Given the description of an element on the screen output the (x, y) to click on. 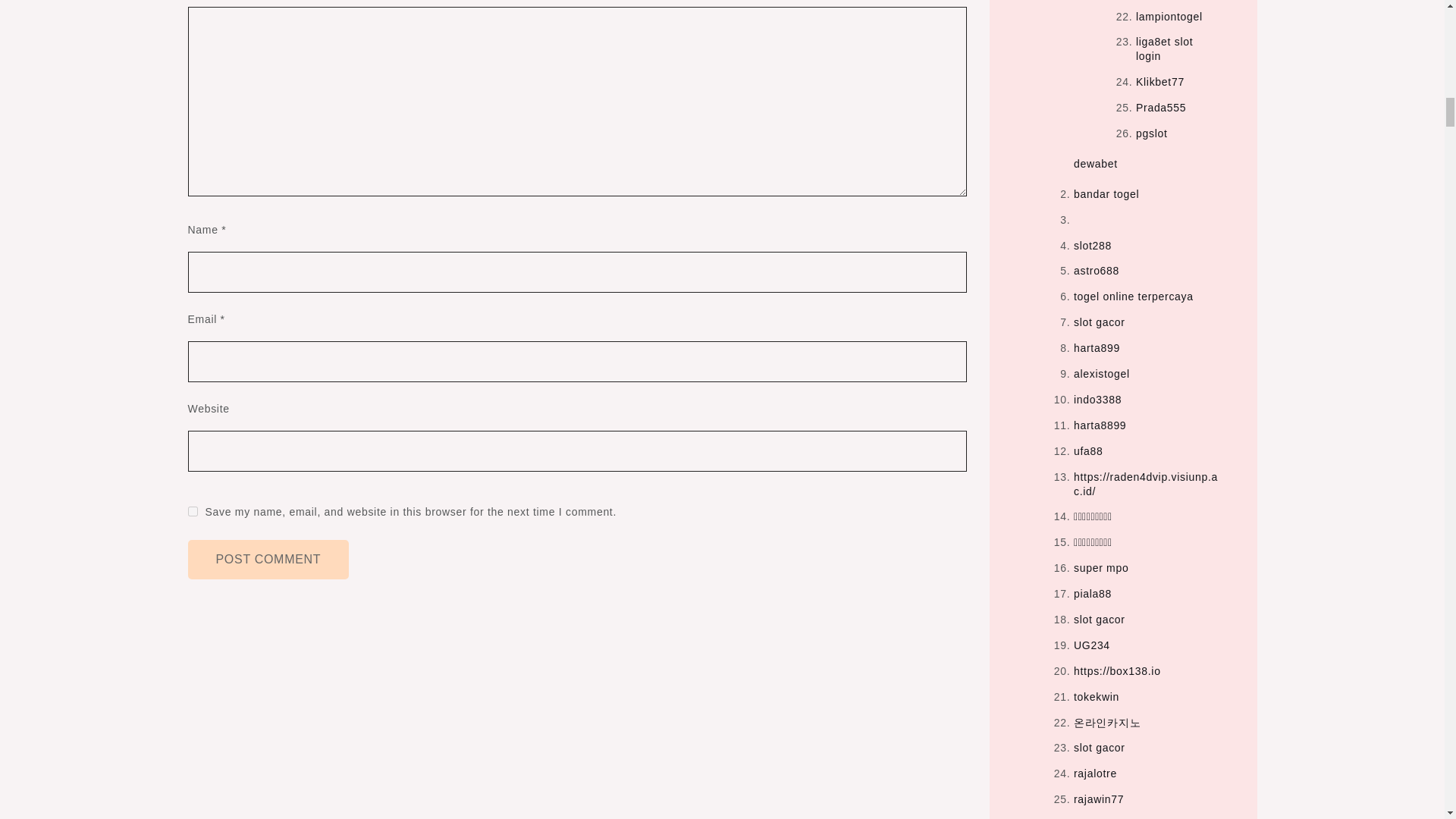
Post Comment (268, 559)
yes (192, 511)
Post Comment (268, 559)
